Given the description of an element on the screen output the (x, y) to click on. 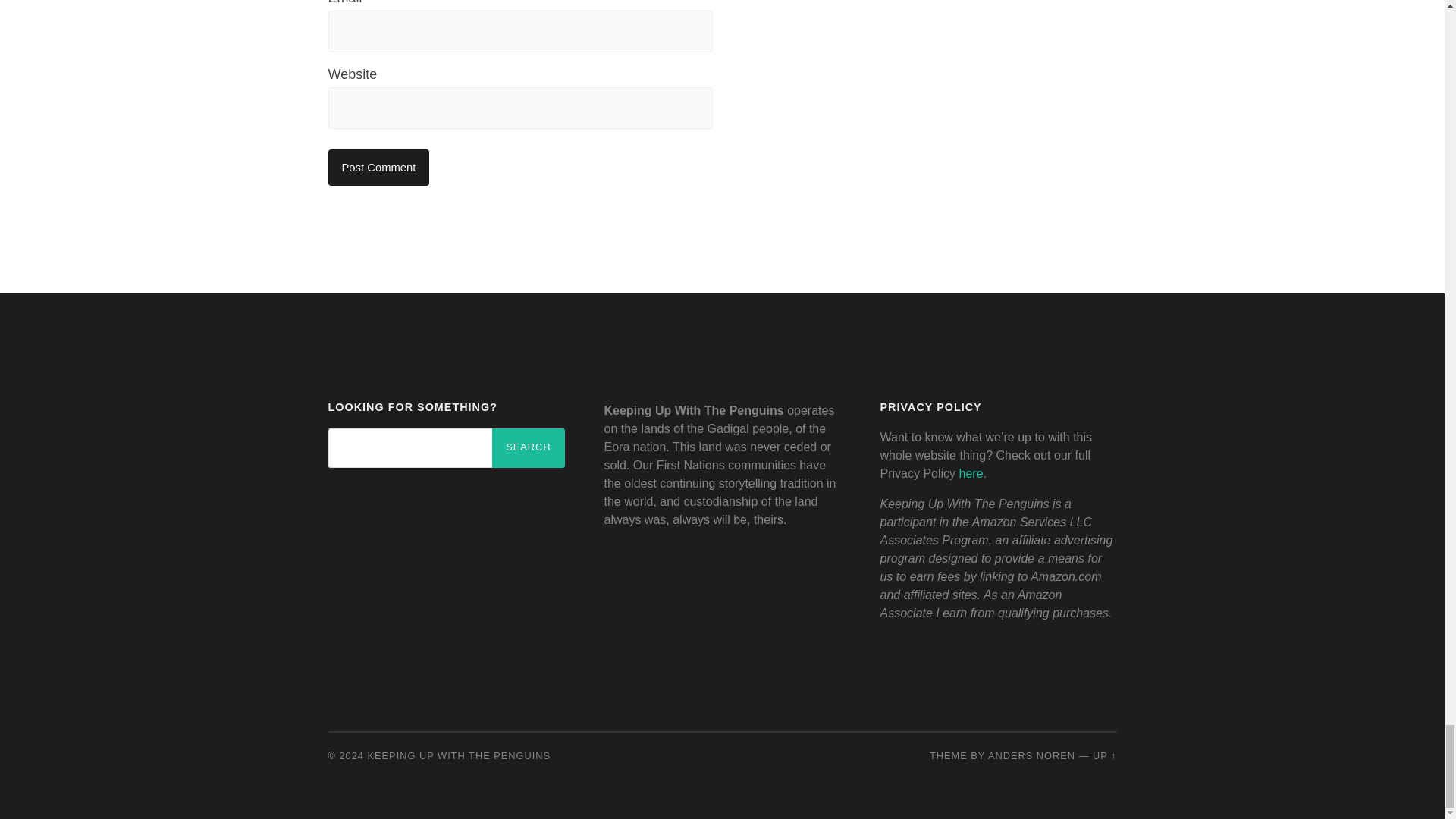
Post Comment (378, 167)
Search (528, 447)
To the top (1104, 755)
